Given the description of an element on the screen output the (x, y) to click on. 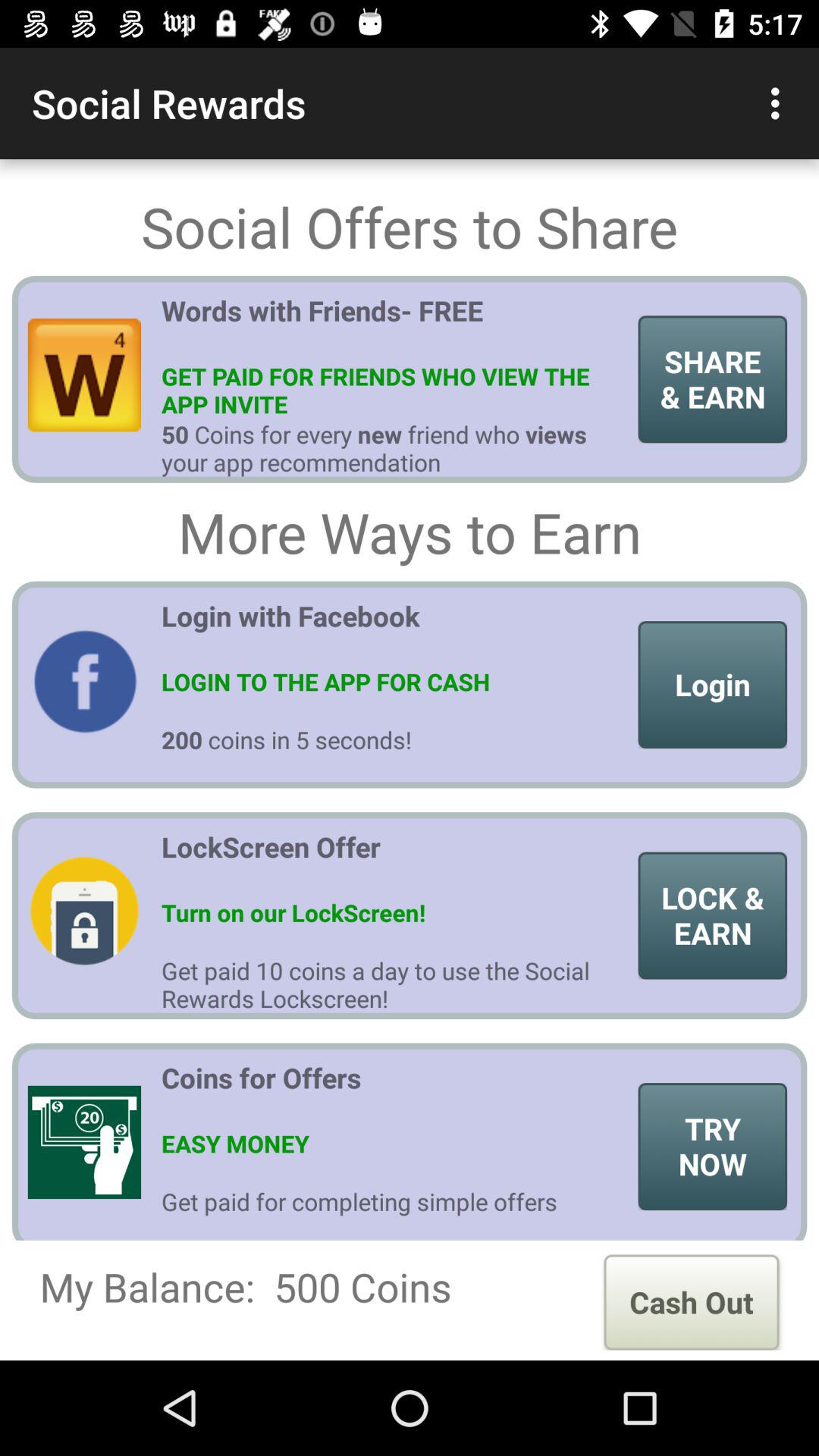
turn off the icon next to share & earn icon (394, 324)
